Given the description of an element on the screen output the (x, y) to click on. 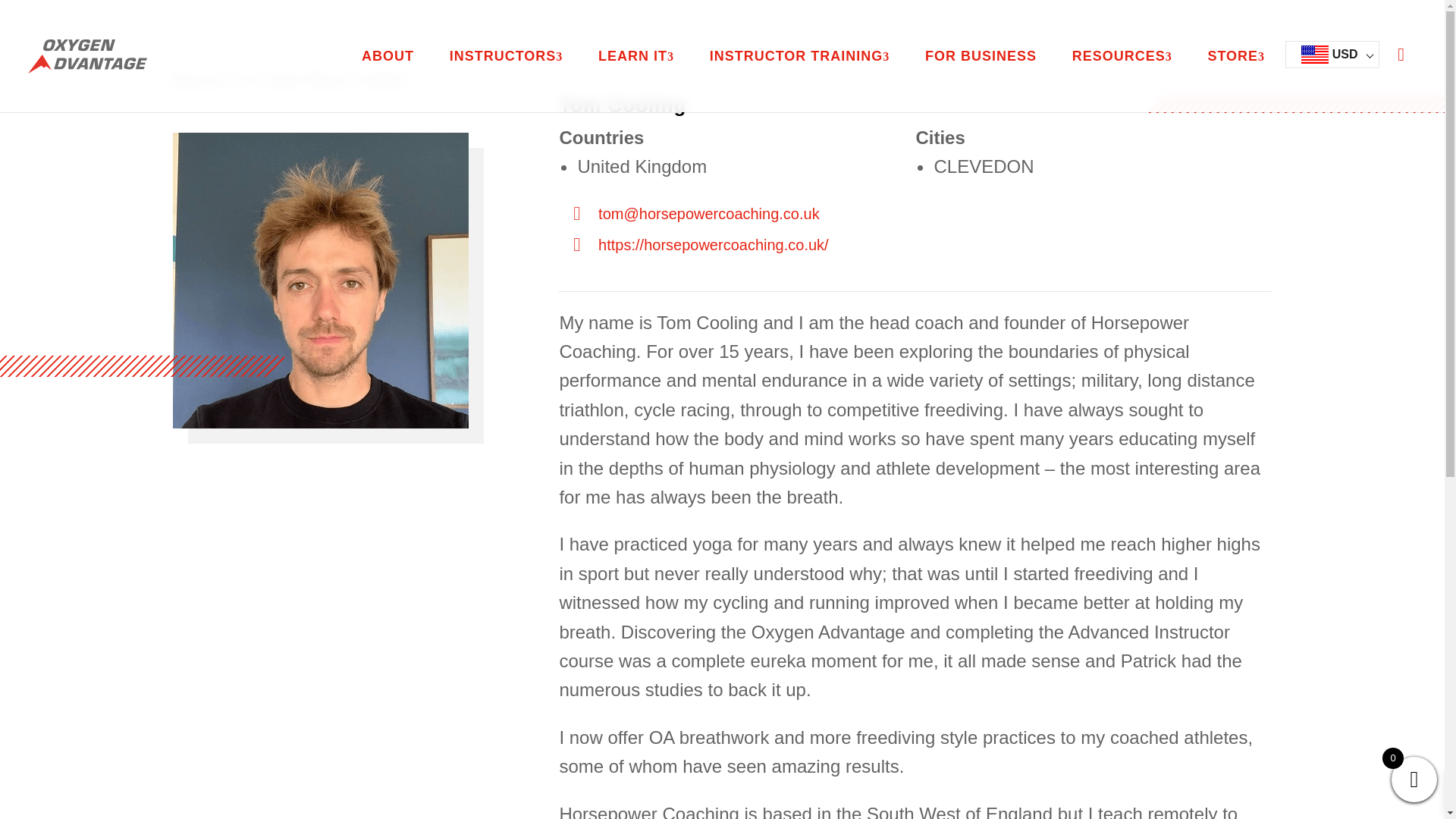
INSTRUCTORS (505, 56)
LEARN IT (635, 56)
RESOURCES (1122, 56)
INSTRUCTOR TRAINING (799, 56)
FOR BUSINESS (980, 56)
